Given the description of an element on the screen output the (x, y) to click on. 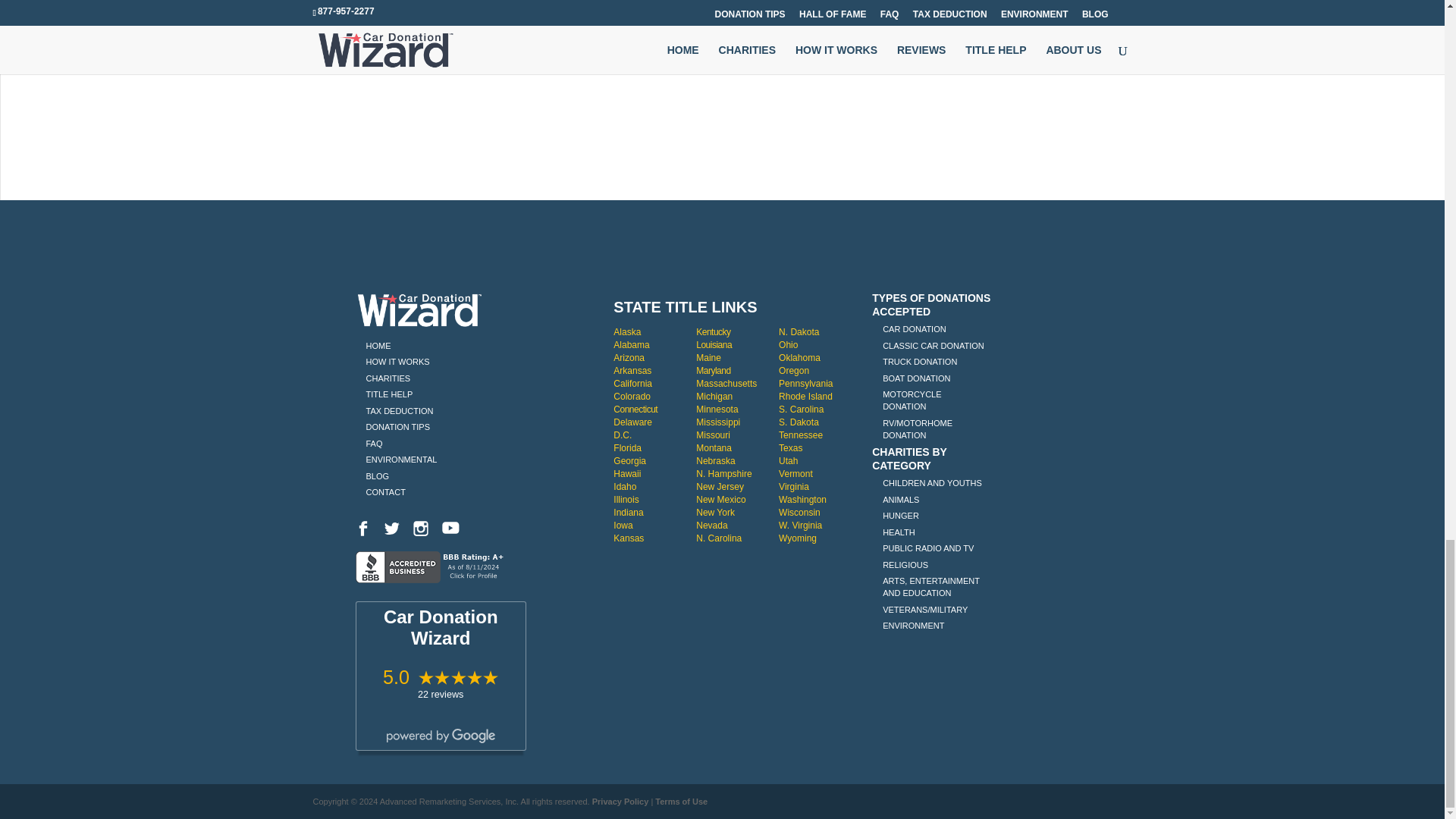
Alabama Title Instructions (630, 344)
Alaska Title Instructions (626, 331)
TITLE HELP (388, 393)
TAX DEDUCTION (398, 410)
Arizona Title Instructions (628, 357)
Hawaii Title Instructions (626, 473)
Delaware Title Instructions (632, 421)
HOME (377, 345)
DONATION TIPS (397, 426)
Florida Title Instructions (627, 448)
